Given the description of an element on the screen output the (x, y) to click on. 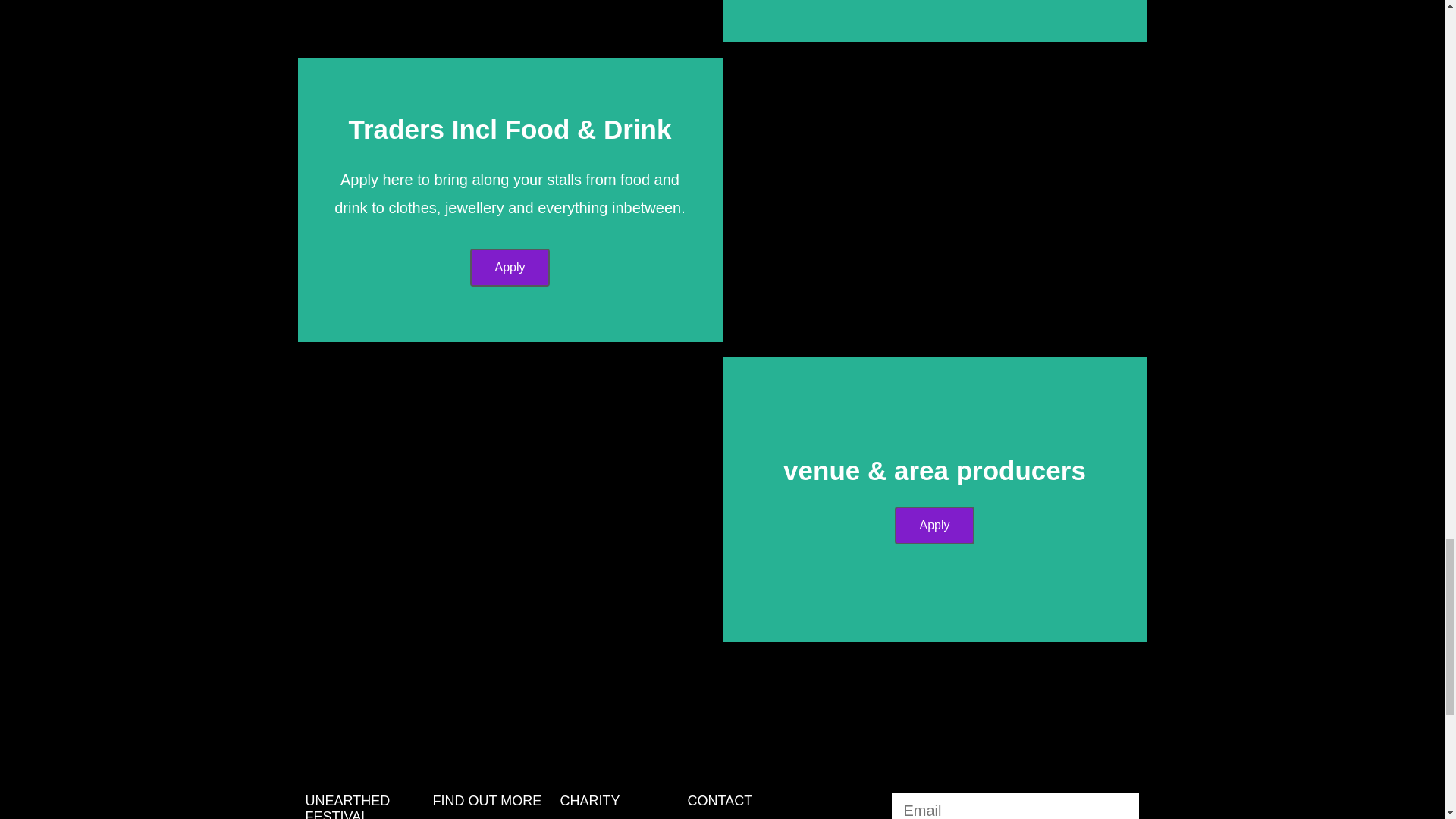
Apply (934, 525)
Apply (509, 267)
